Given the description of an element on the screen output the (x, y) to click on. 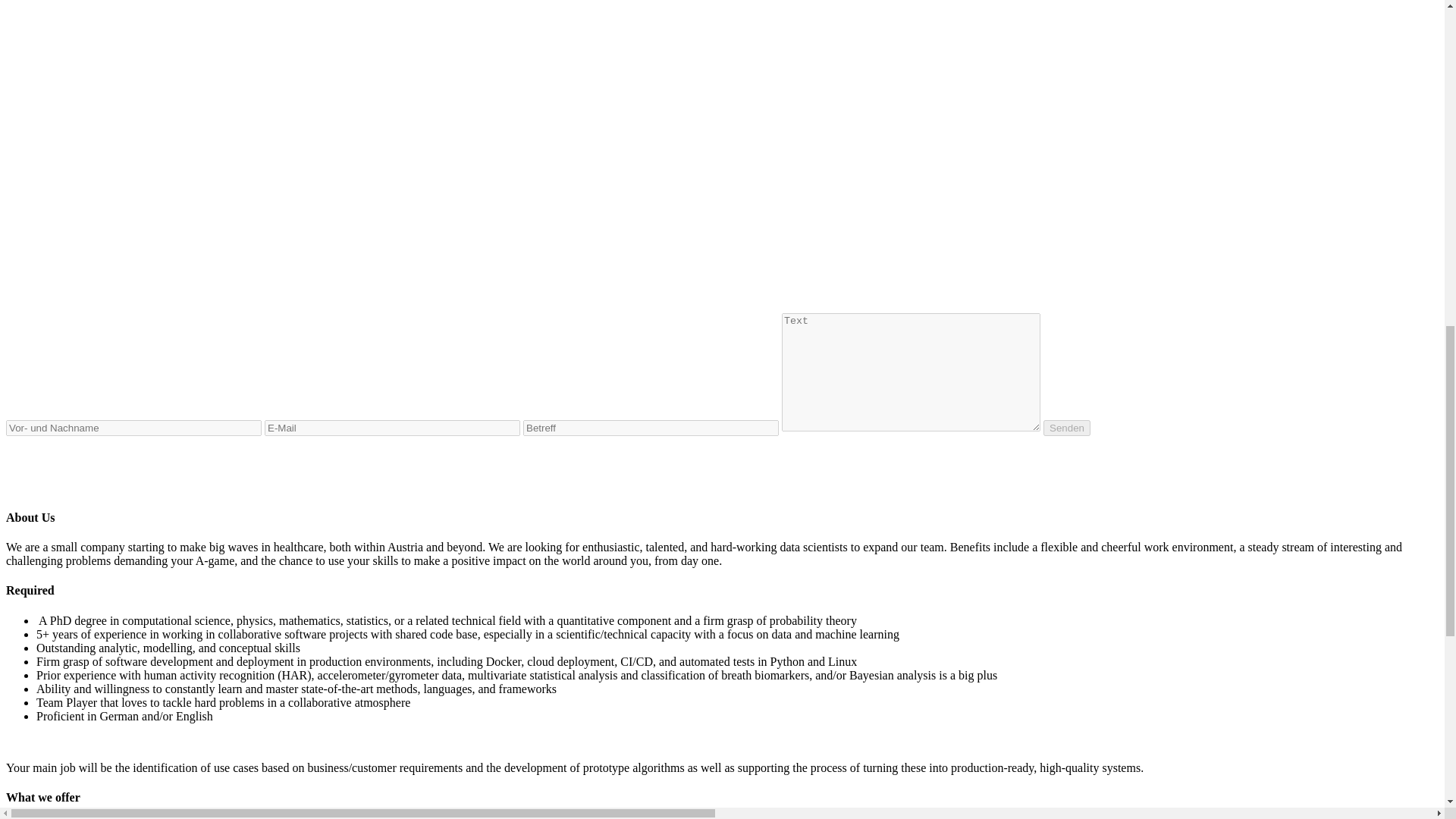
Senden (1066, 427)
Senden (1066, 427)
